Given the description of an element on the screen output the (x, y) to click on. 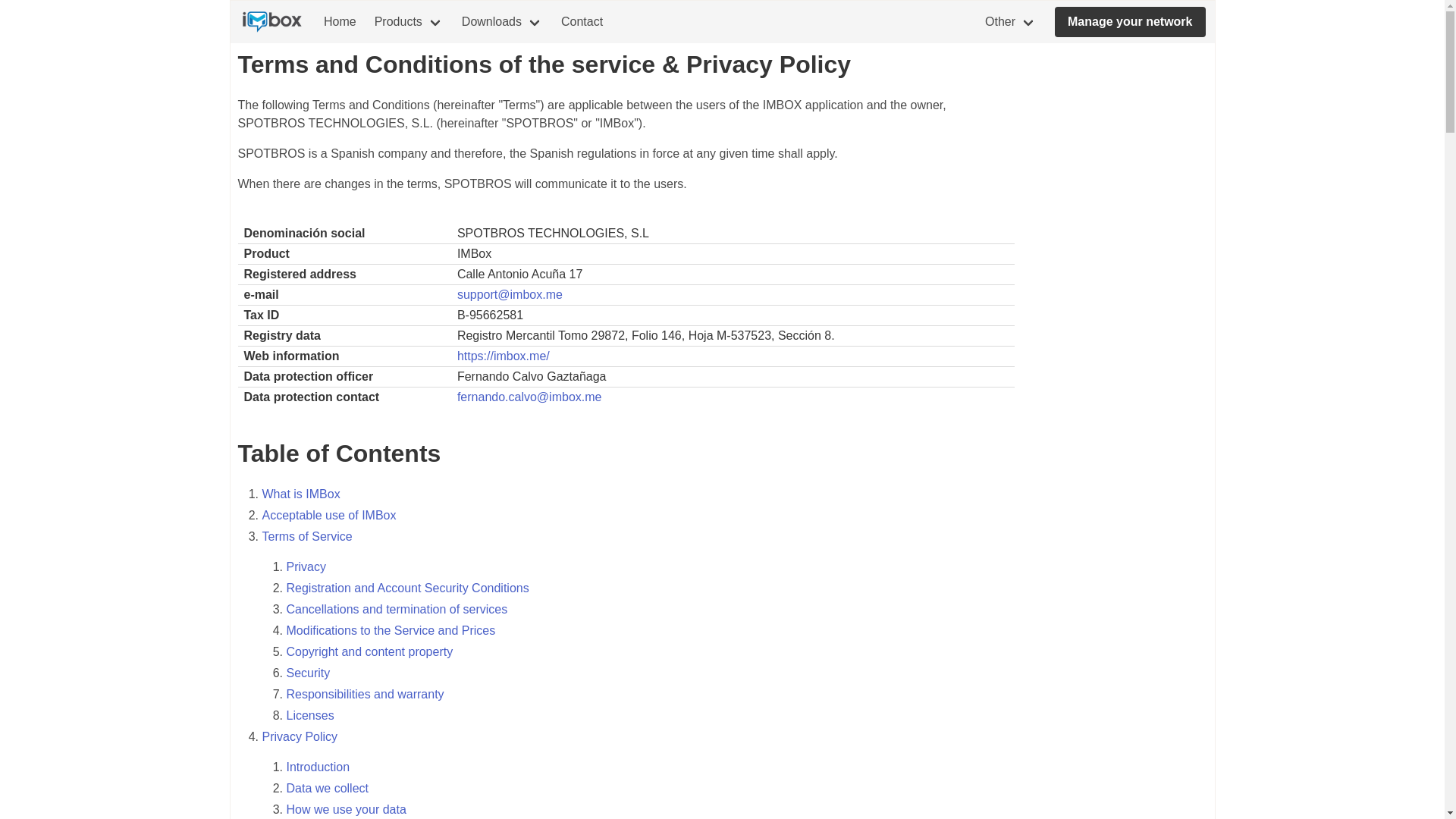
Products (408, 21)
Privacy (306, 566)
Home (339, 21)
Introduction (318, 766)
Cancellations and termination of services (397, 608)
Terms of Service (307, 535)
Contact (581, 21)
How we use your data (346, 809)
Modifications to the Service and Prices (391, 630)
What is IMBox (301, 493)
